Given the description of an element on the screen output the (x, y) to click on. 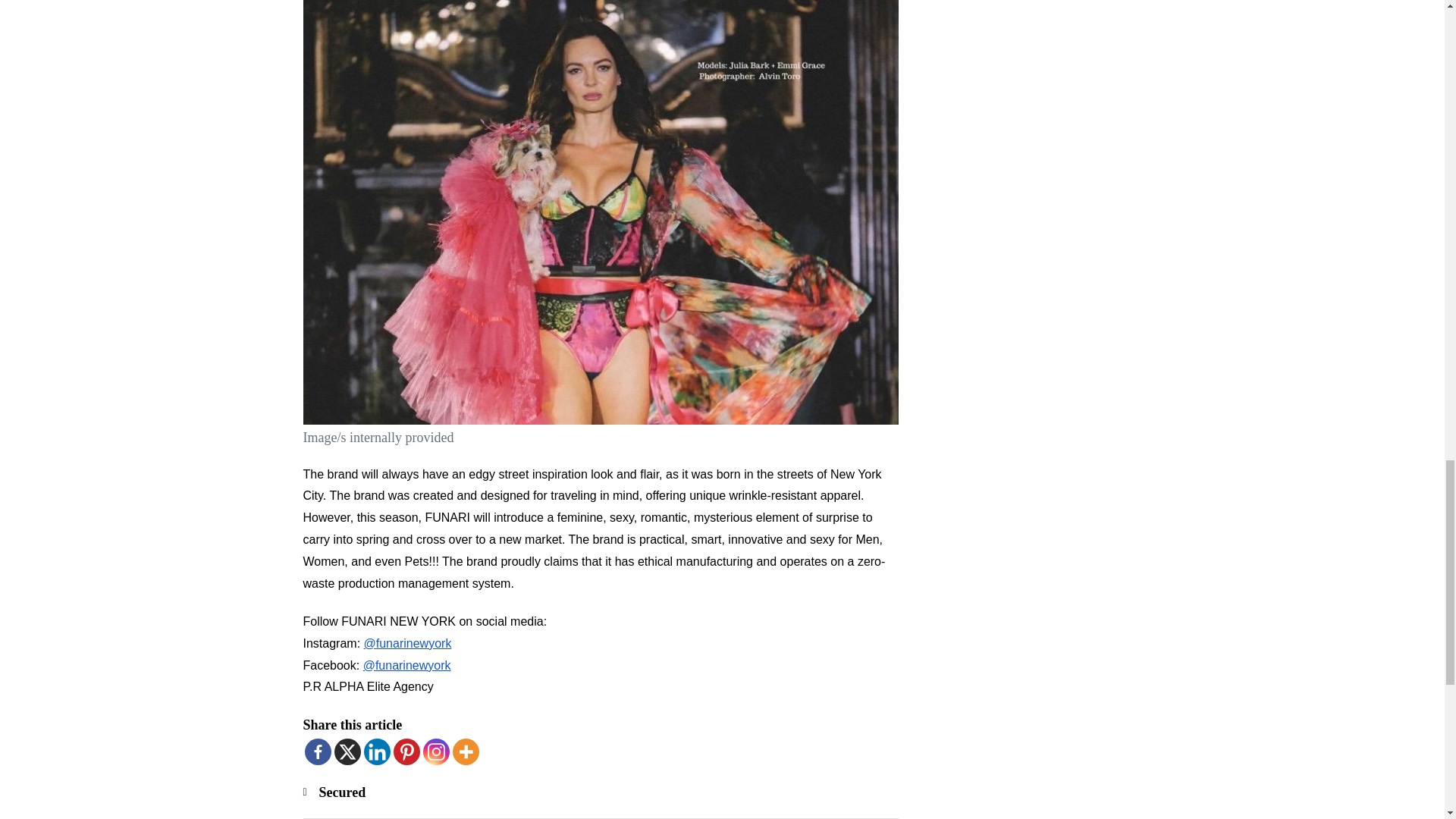
X (346, 751)
Pinterest (406, 751)
Linkedin (377, 751)
More (465, 751)
Instagram (436, 751)
Facebook (317, 751)
